Given the description of an element on the screen output the (x, y) to click on. 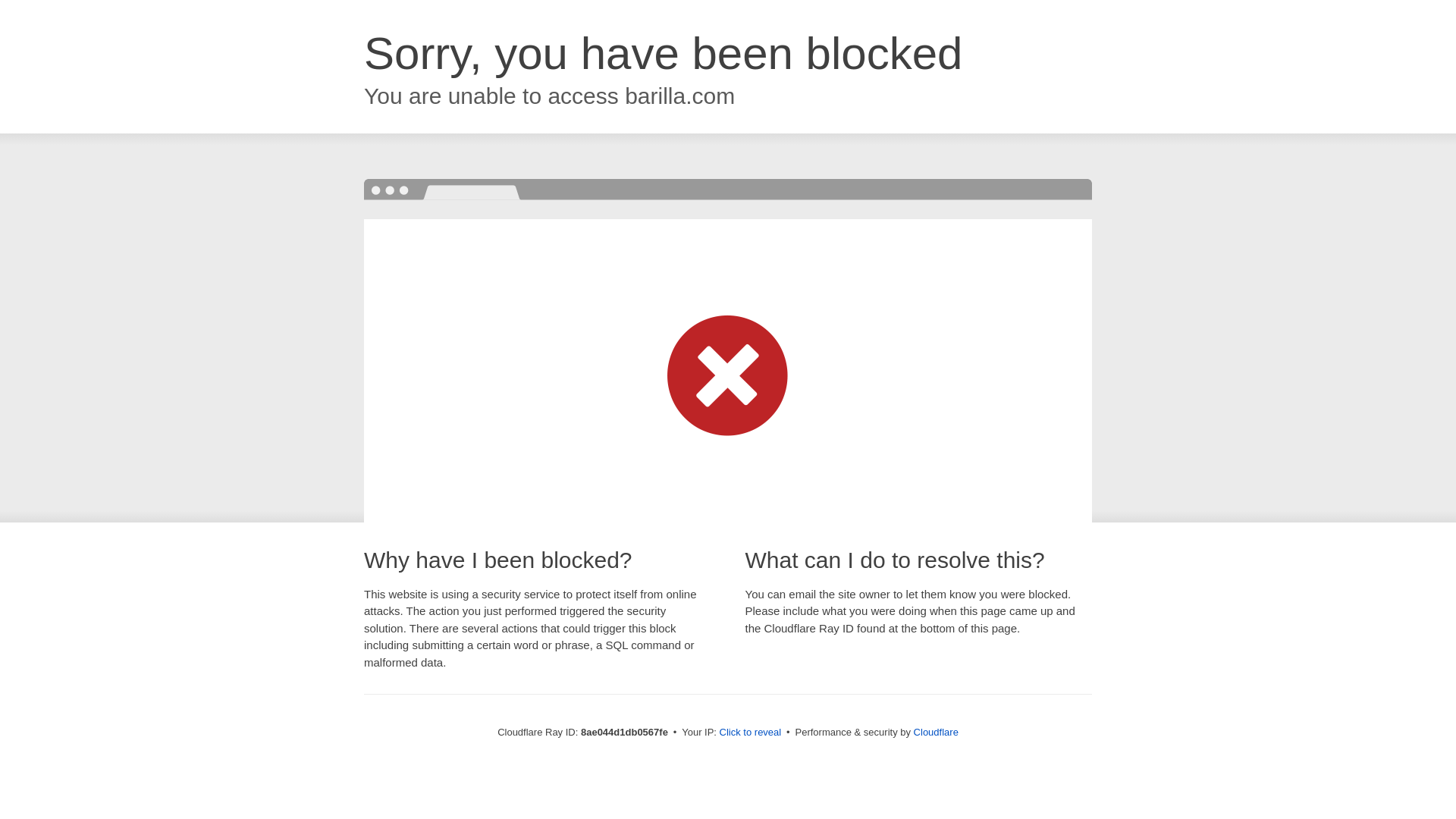
Click to reveal (750, 732)
Cloudflare (936, 731)
